Given the description of an element on the screen output the (x, y) to click on. 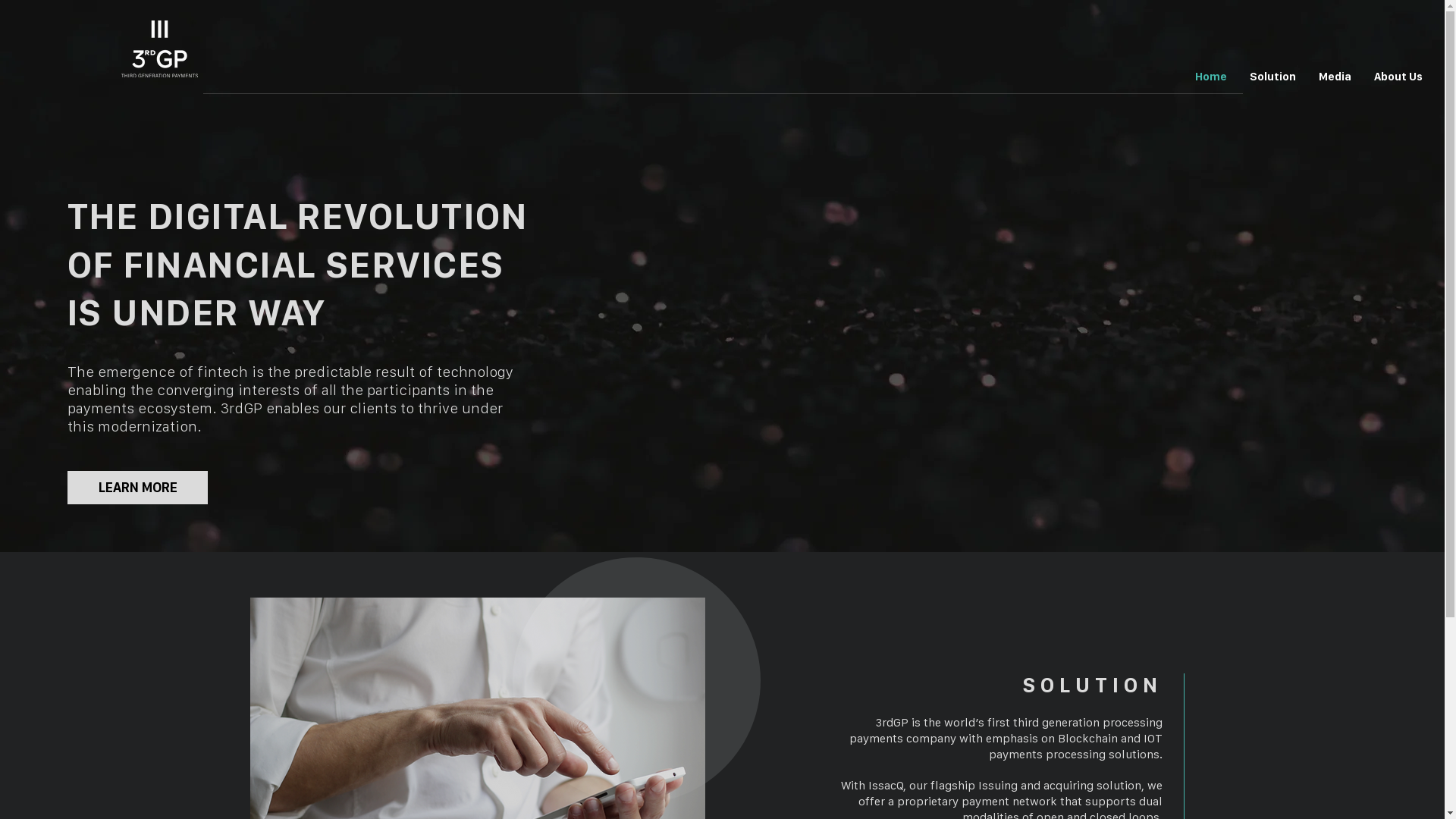
Home Element type: text (1210, 76)
Solution Element type: text (1272, 76)
LEARN MORE Element type: text (137, 487)
About Us Element type: text (1398, 76)
Media Element type: text (1334, 76)
